Given the description of an element on the screen output the (x, y) to click on. 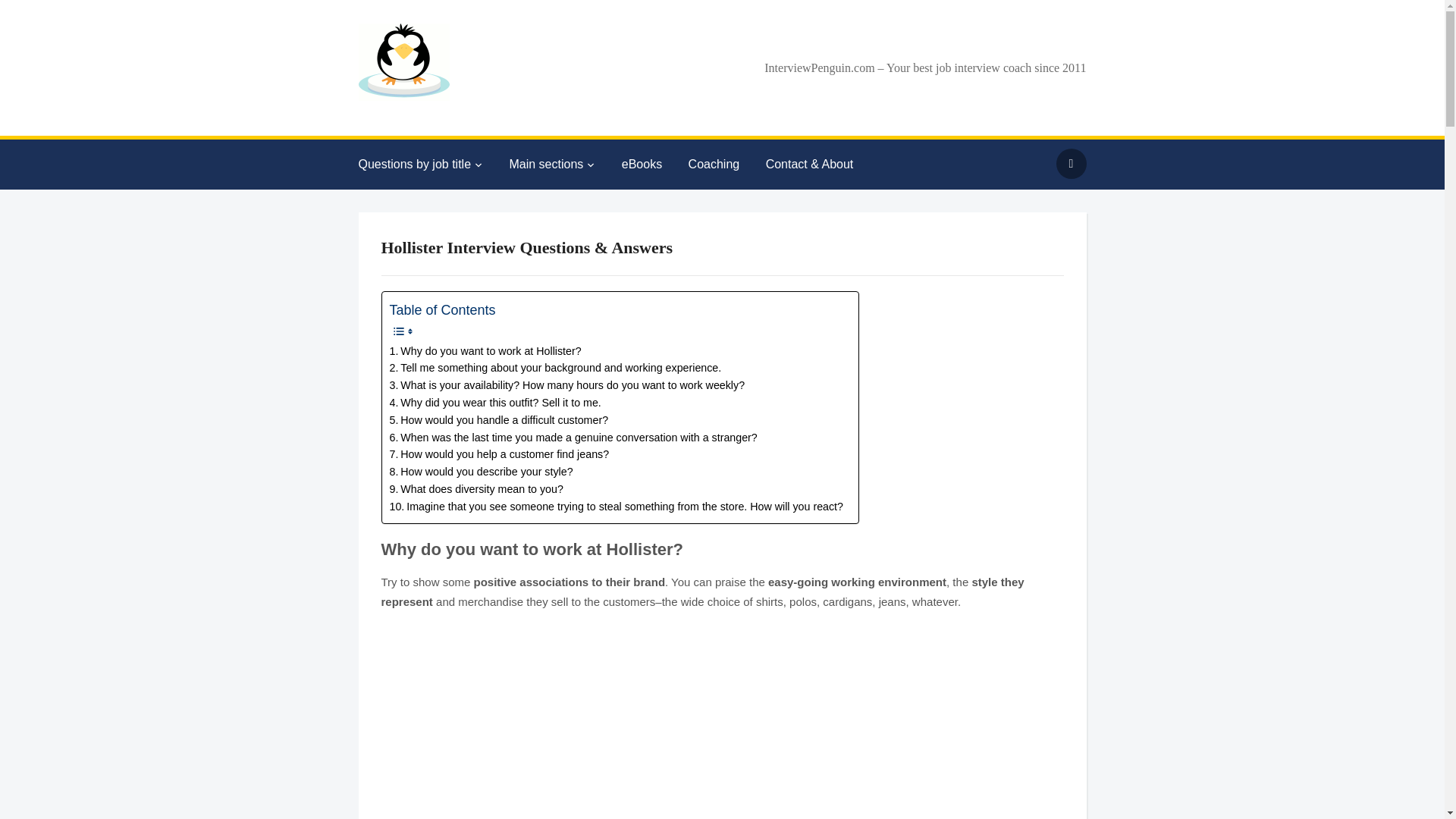
How would you help a customer find jeans? (500, 454)
Why did you wear this outfit? Sell it to me. (495, 402)
How would you describe your style? (481, 471)
Why do you want to work at Hollister? (485, 351)
How would you handle a difficult customer? (499, 420)
What does diversity mean to you? (476, 488)
